Given the description of an element on the screen output the (x, y) to click on. 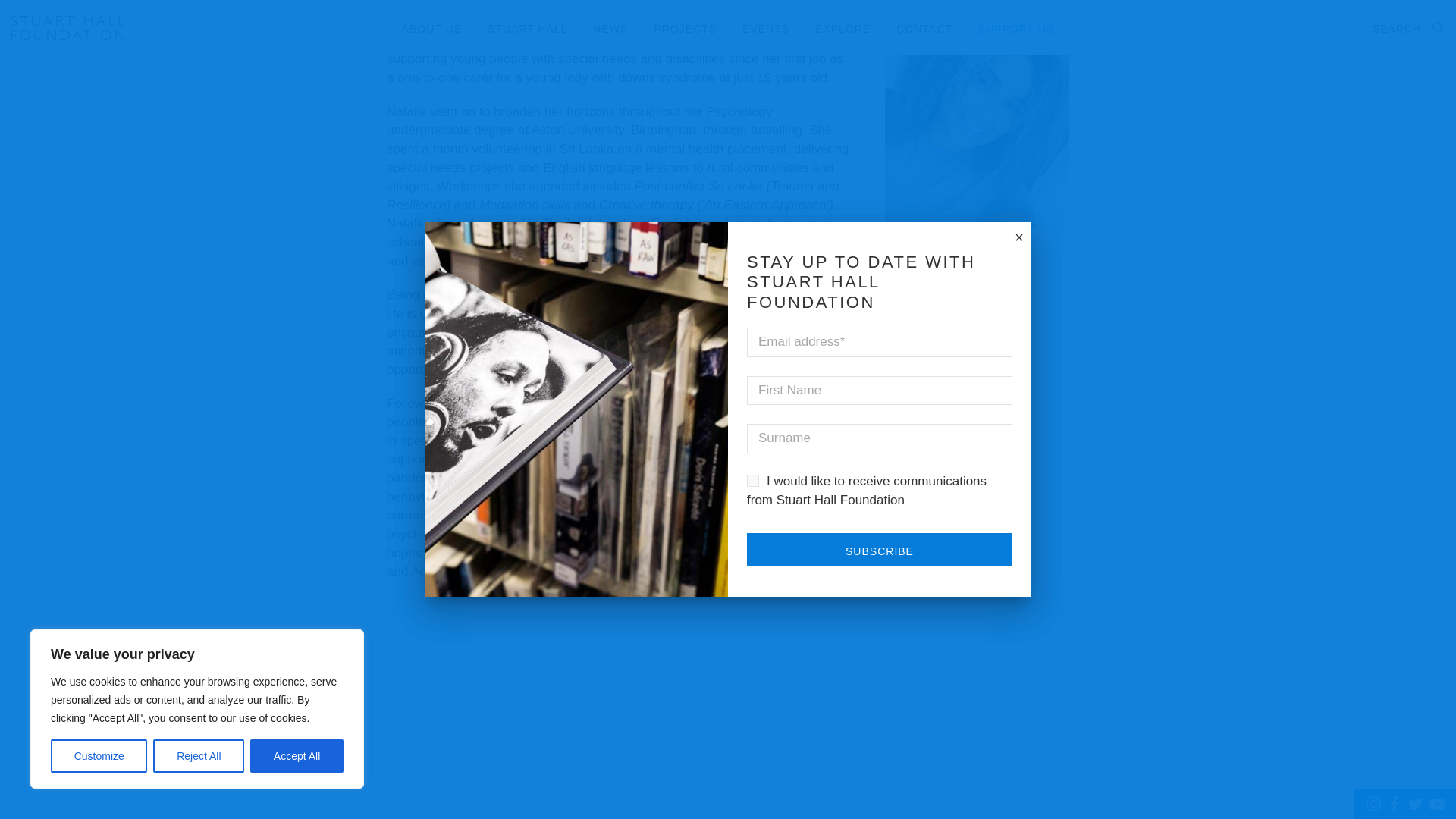
Subscribe (878, 317)
Customize (98, 523)
Accept All (296, 523)
Reject All (198, 523)
